Given the description of an element on the screen output the (x, y) to click on. 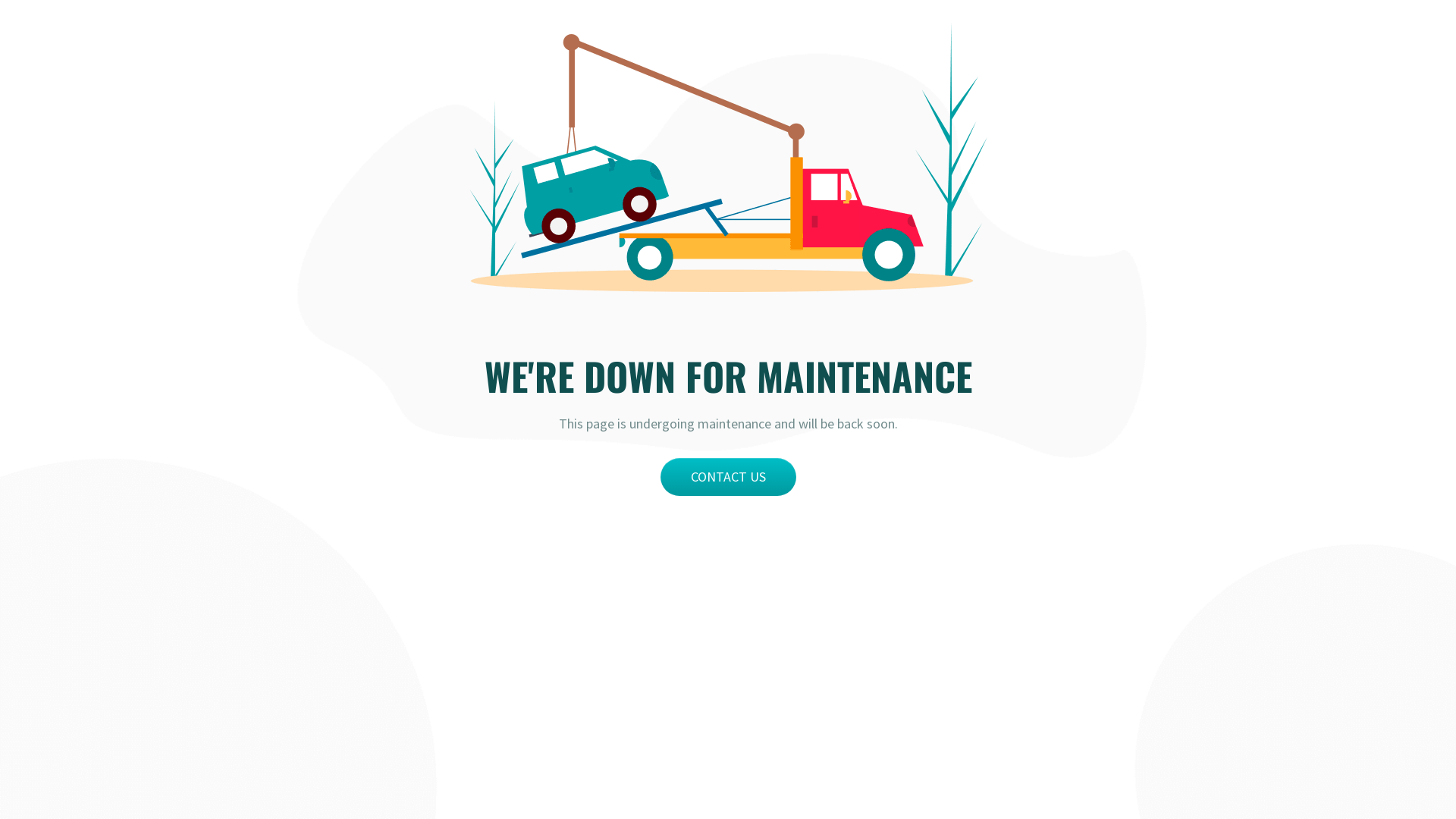
CONTACT US Element type: text (727, 476)
